Given the description of an element on the screen output the (x, y) to click on. 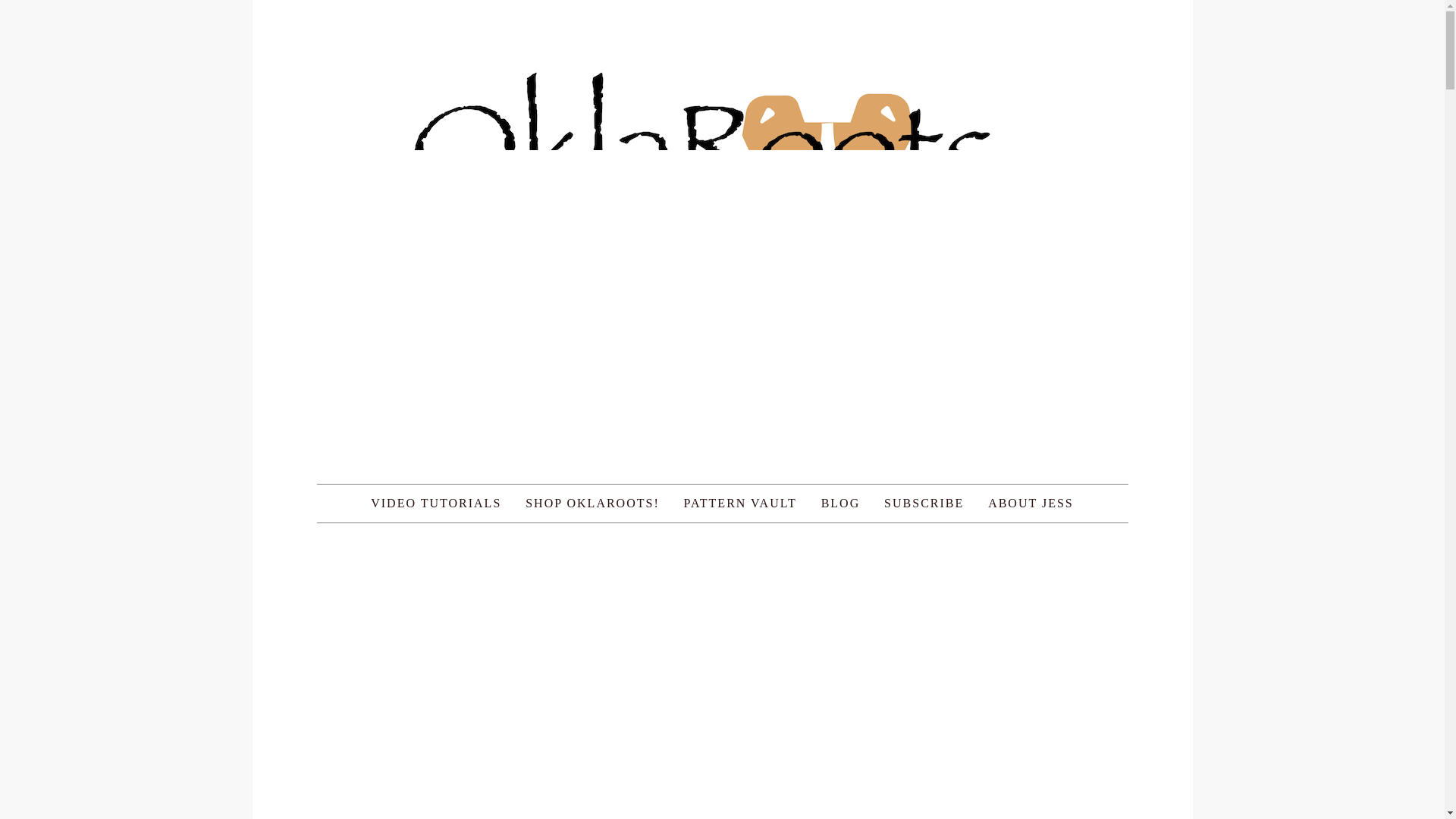
Running (722, 817)
PATTERN VAULT (740, 503)
SUBSCRIBE (924, 503)
BLOG (840, 503)
VIDEO TUTORIALS (436, 503)
ABOUT JESS (1030, 503)
SHOP OKLAROOTS! (592, 503)
